Given the description of an element on the screen output the (x, y) to click on. 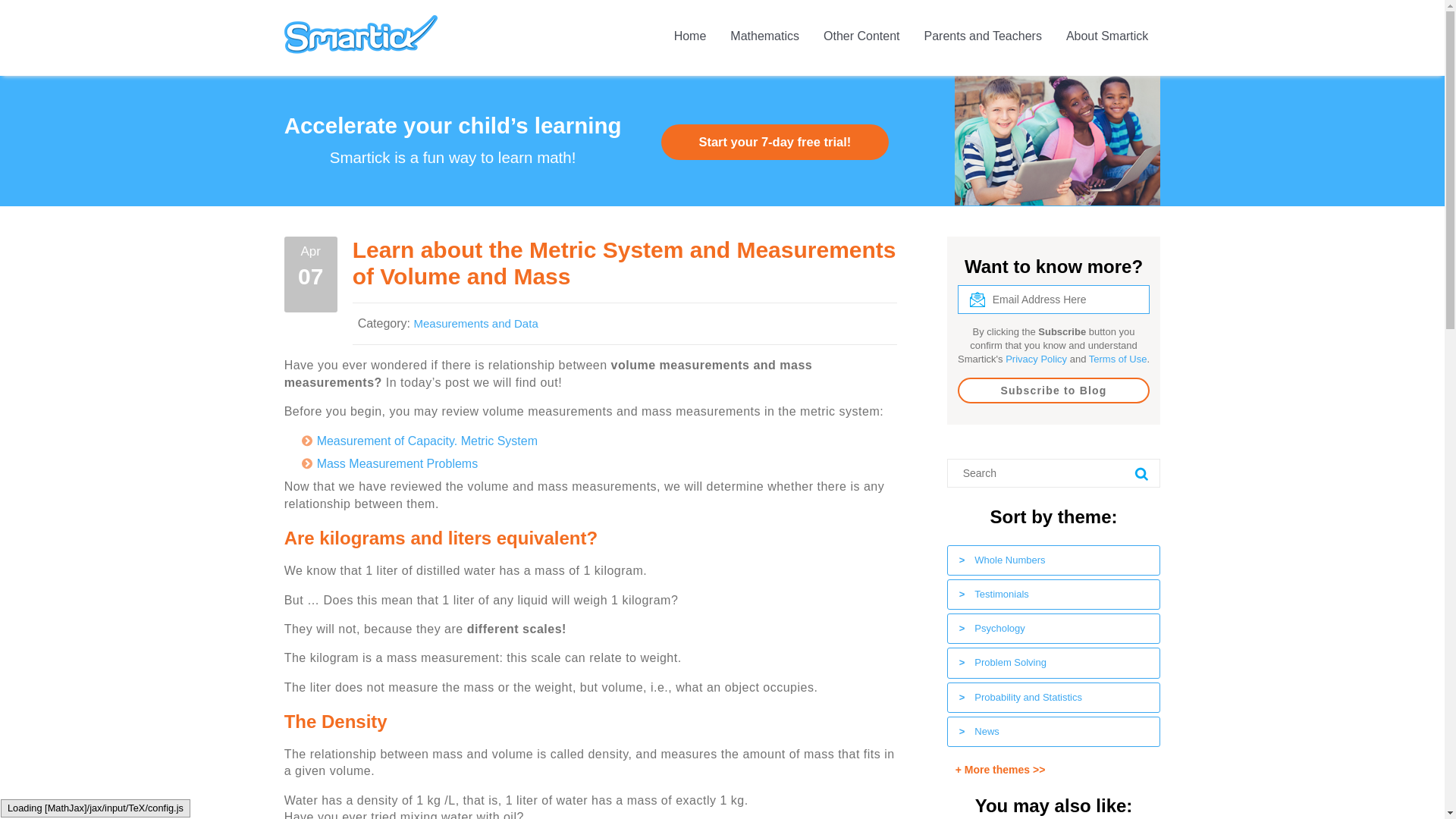
Mass Measurement Problems (398, 463)
Measurement of Capacity. Metric System (427, 440)
Other Content (861, 38)
About Smartick (1107, 38)
Mathematics (763, 38)
Measurements and Data (475, 323)
Subscribe to Blog (1054, 390)
Parents and Teachers (983, 38)
Start your 7-day free trial! (774, 141)
